Given the description of an element on the screen output the (x, y) to click on. 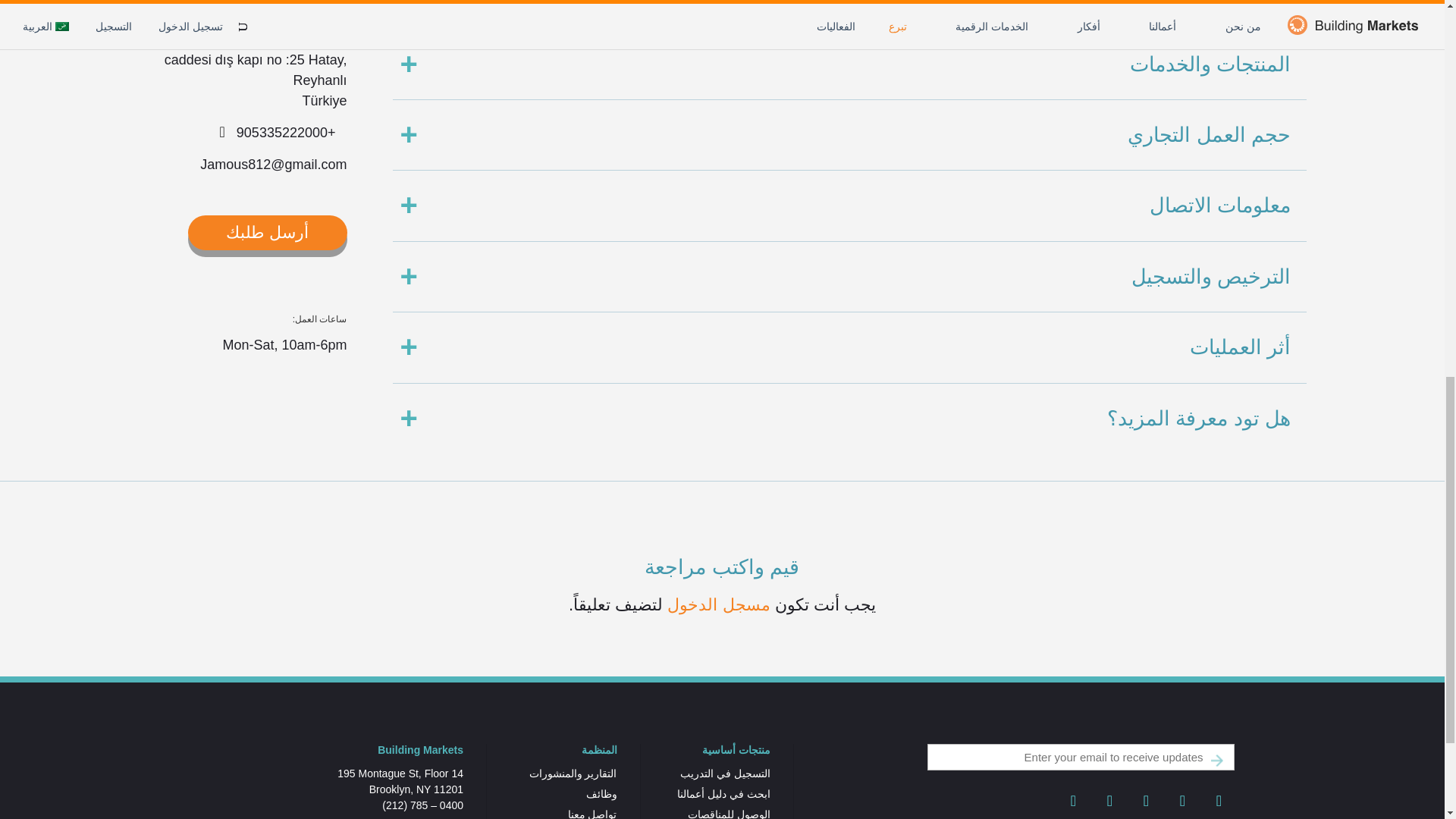
Submit (1216, 760)
